Given the description of an element on the screen output the (x, y) to click on. 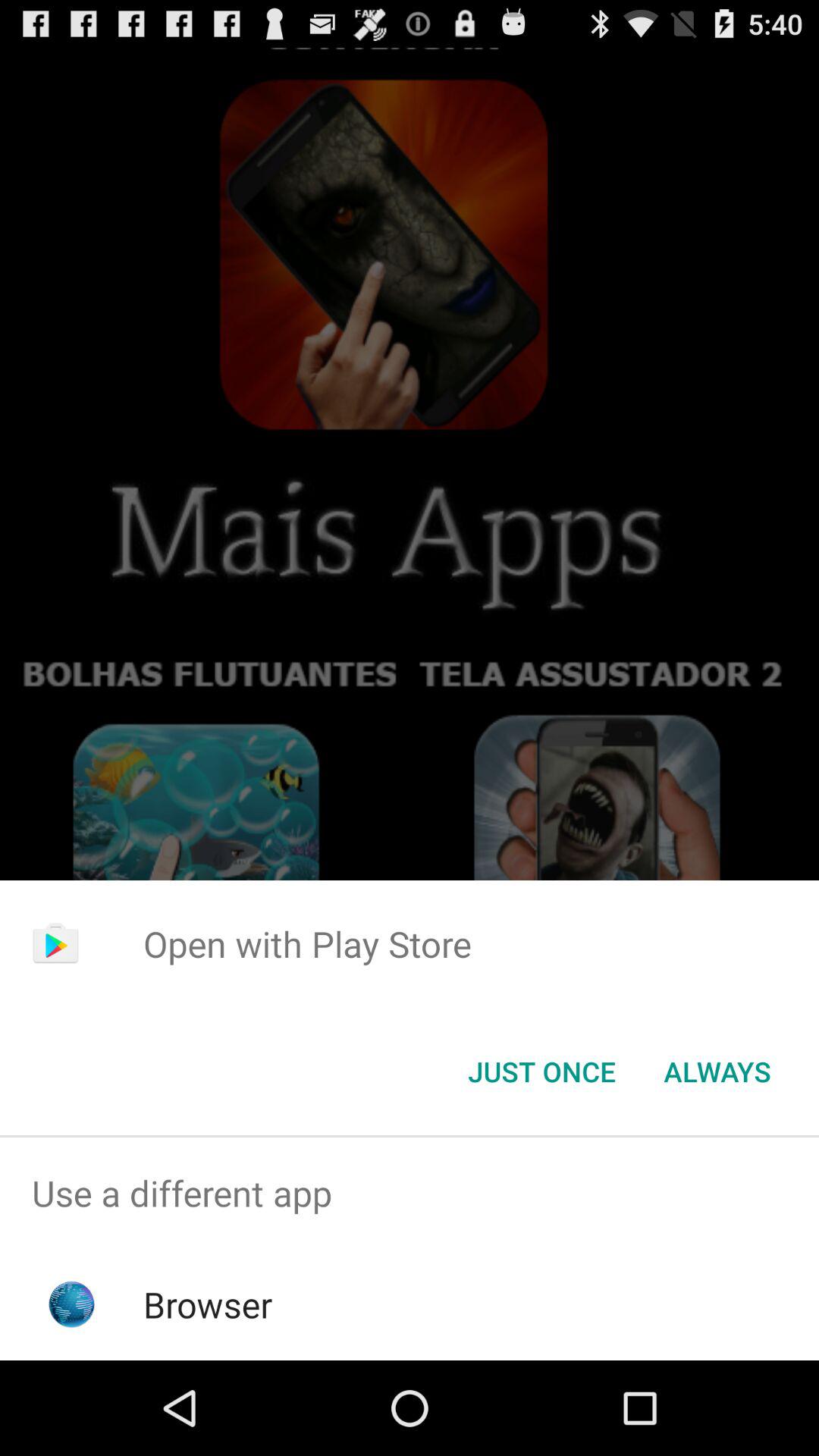
scroll to just once (541, 1071)
